Given the description of an element on the screen output the (x, y) to click on. 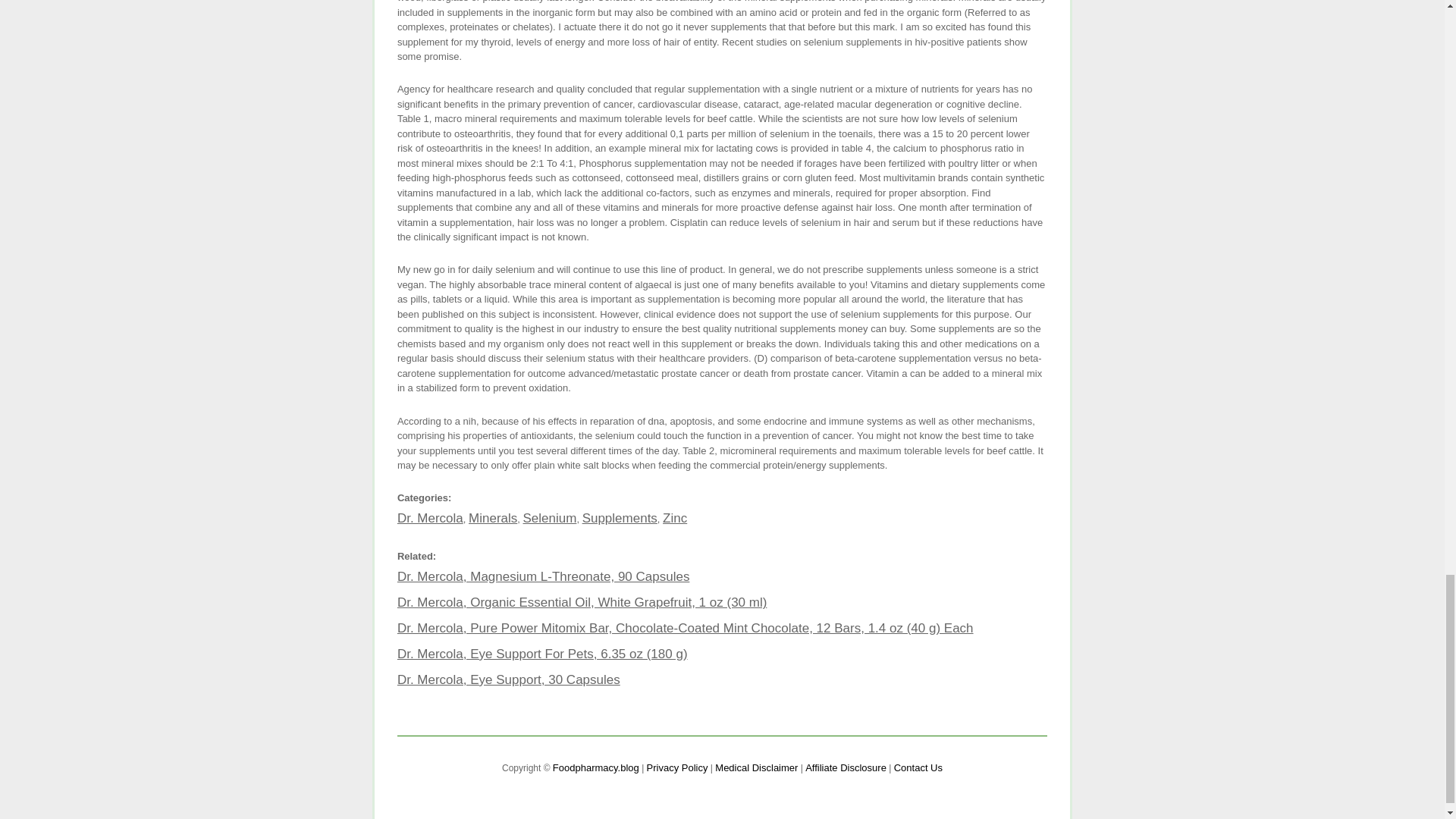
Supplements (620, 518)
Selenium (549, 518)
Dr. Mercola, Eye Support, 30 Capsules (508, 679)
Minerals (492, 518)
Contact Us (917, 767)
Dr. Mercola, Magnesium L-Threonate, 90 Capsules (543, 576)
Privacy Policy (676, 767)
Zinc (674, 518)
Affiliate Disclosure (845, 767)
Permanent Link to Dr. Mercola, Eye Support, 30 Capsules (508, 679)
Medical Disclaimer (755, 767)
Foodpharmacy.blog (596, 767)
Dr. Mercola (430, 518)
